Given the description of an element on the screen output the (x, y) to click on. 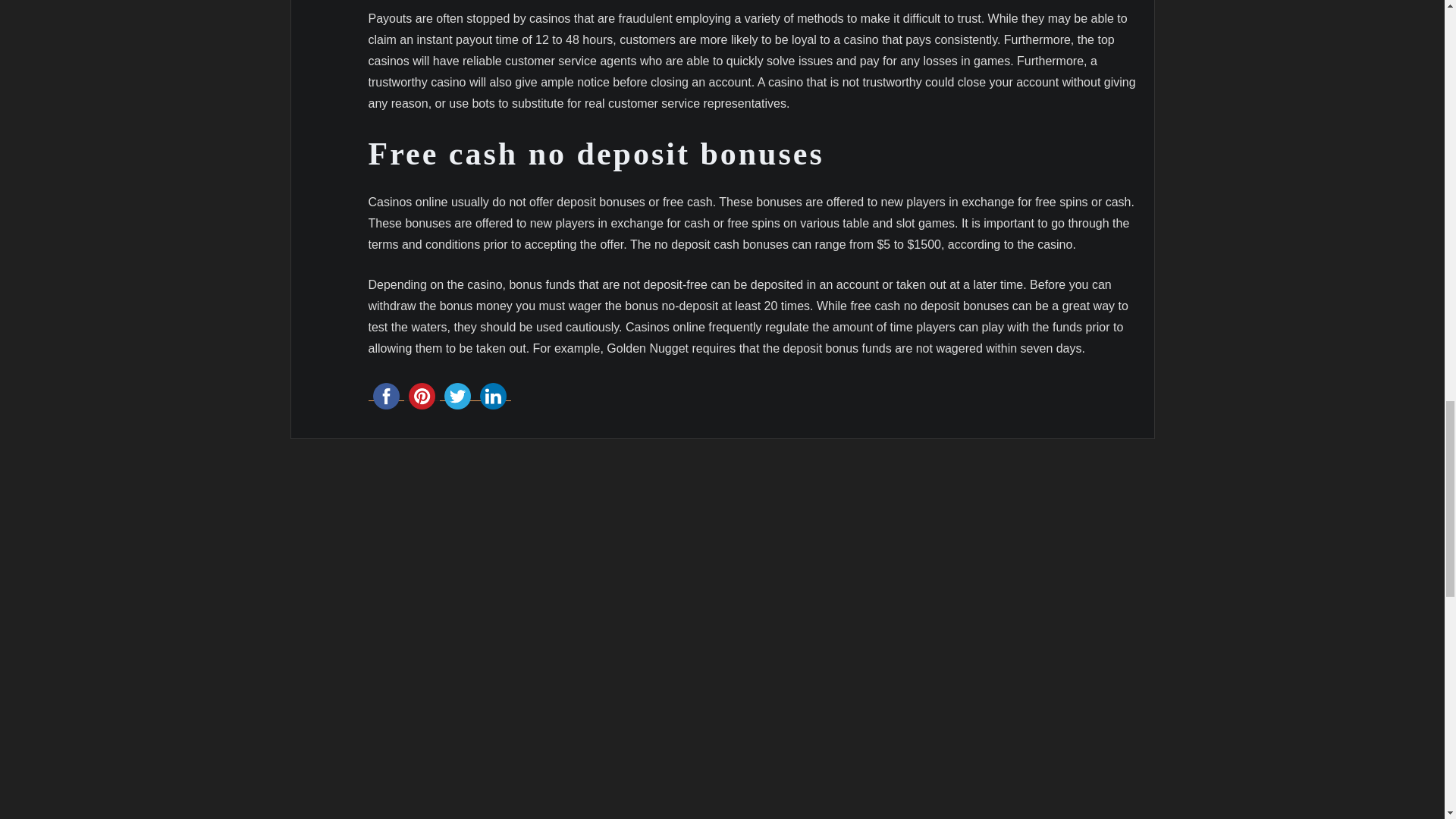
Pinterest (421, 396)
Facebook (386, 396)
Twitter (457, 396)
LinkedIn (492, 396)
